Given the description of an element on the screen output the (x, y) to click on. 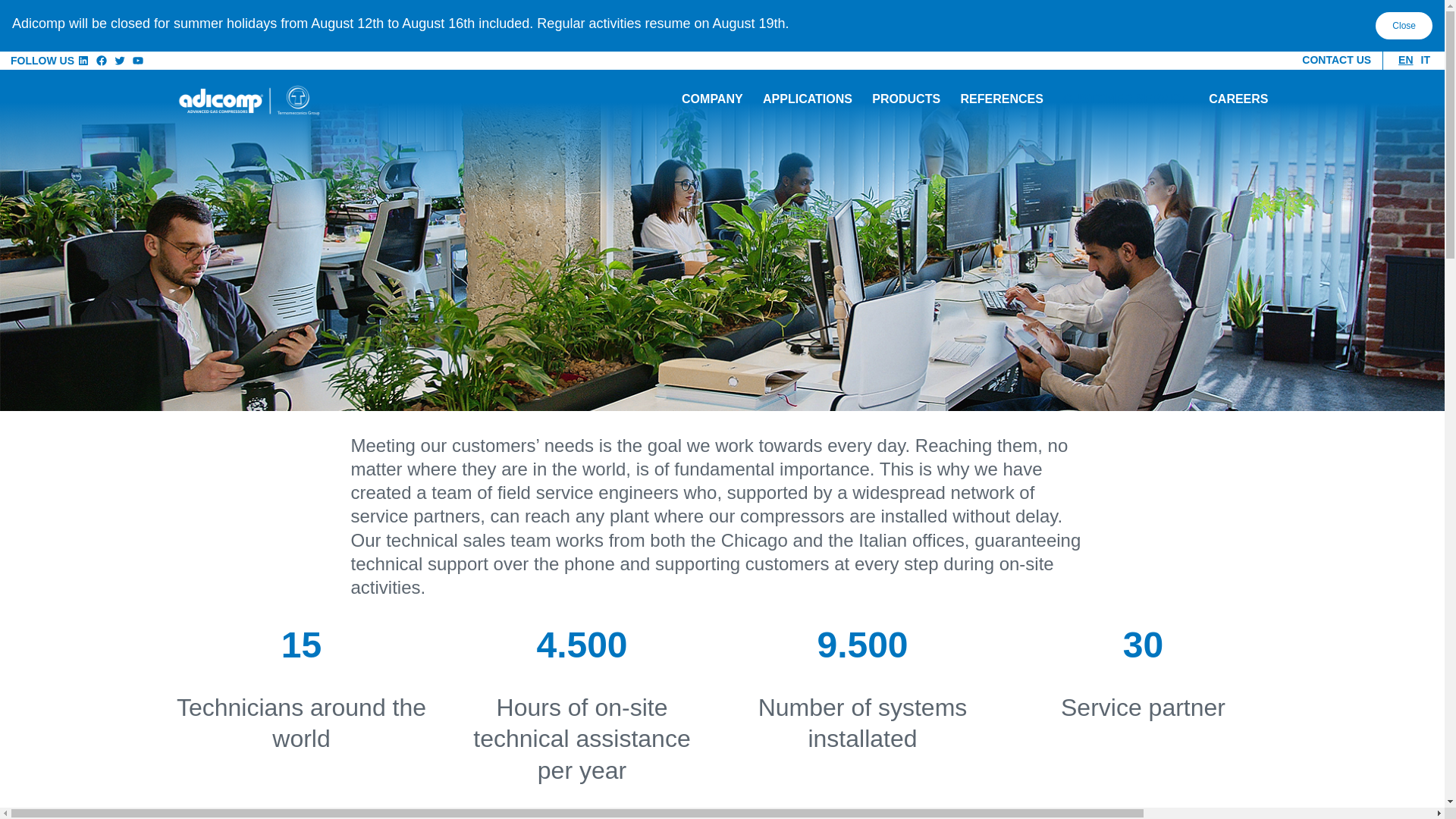
COMPANY (711, 99)
Linkedin (83, 60)
CONTACT US (1336, 60)
Twitter (119, 60)
REFERENCES (1001, 99)
PRODUCTS (905, 99)
CUSTOMER SERVICE (1125, 99)
APPLICATIONS (806, 99)
Facebook (101, 60)
CAREERS (1238, 99)
